Given the description of an element on the screen output the (x, y) to click on. 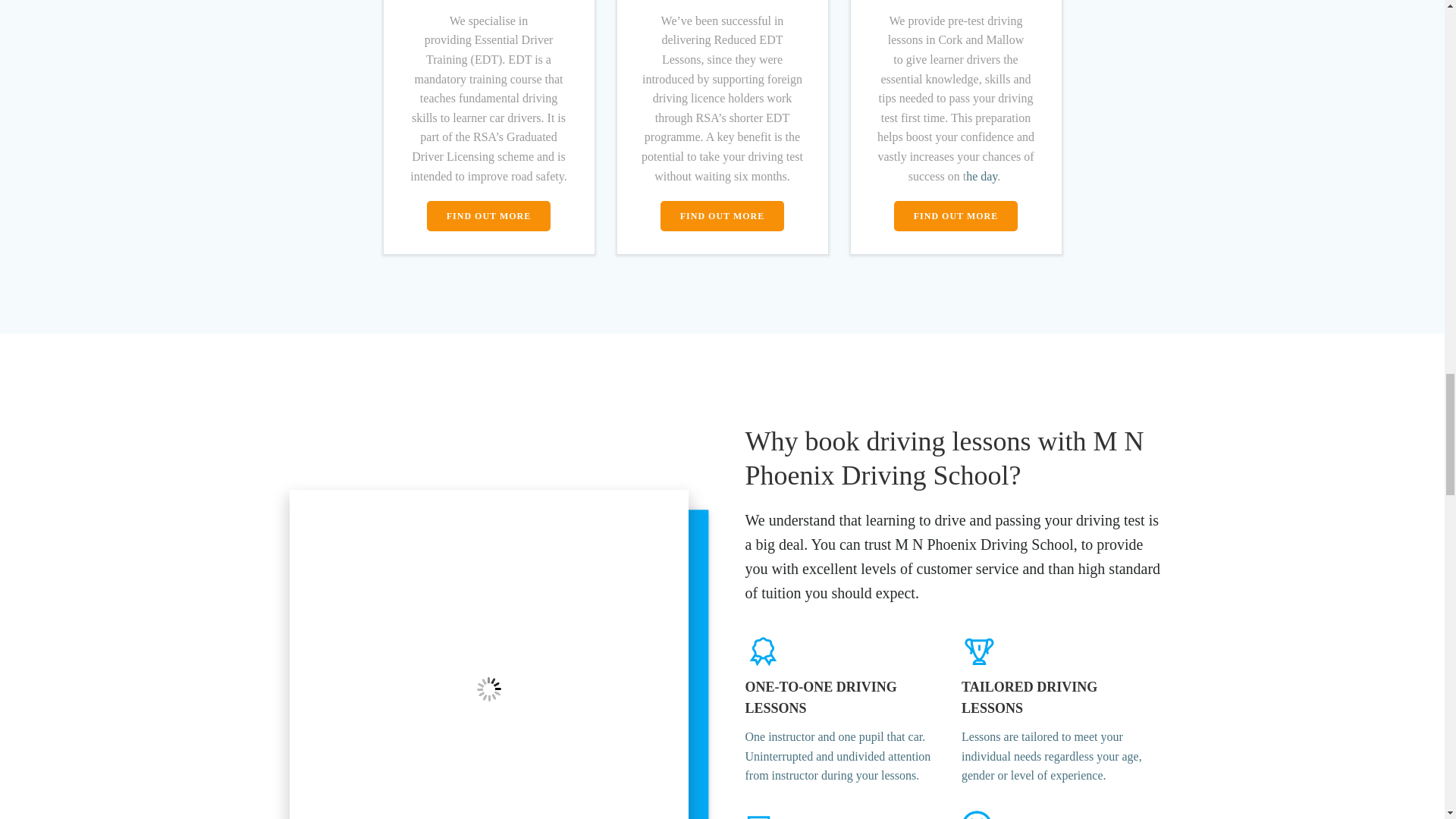
FIND OUT MORE (488, 215)
FIND OUT MORE (722, 215)
FIND OUT MORE (955, 215)
